Given the description of an element on the screen output the (x, y) to click on. 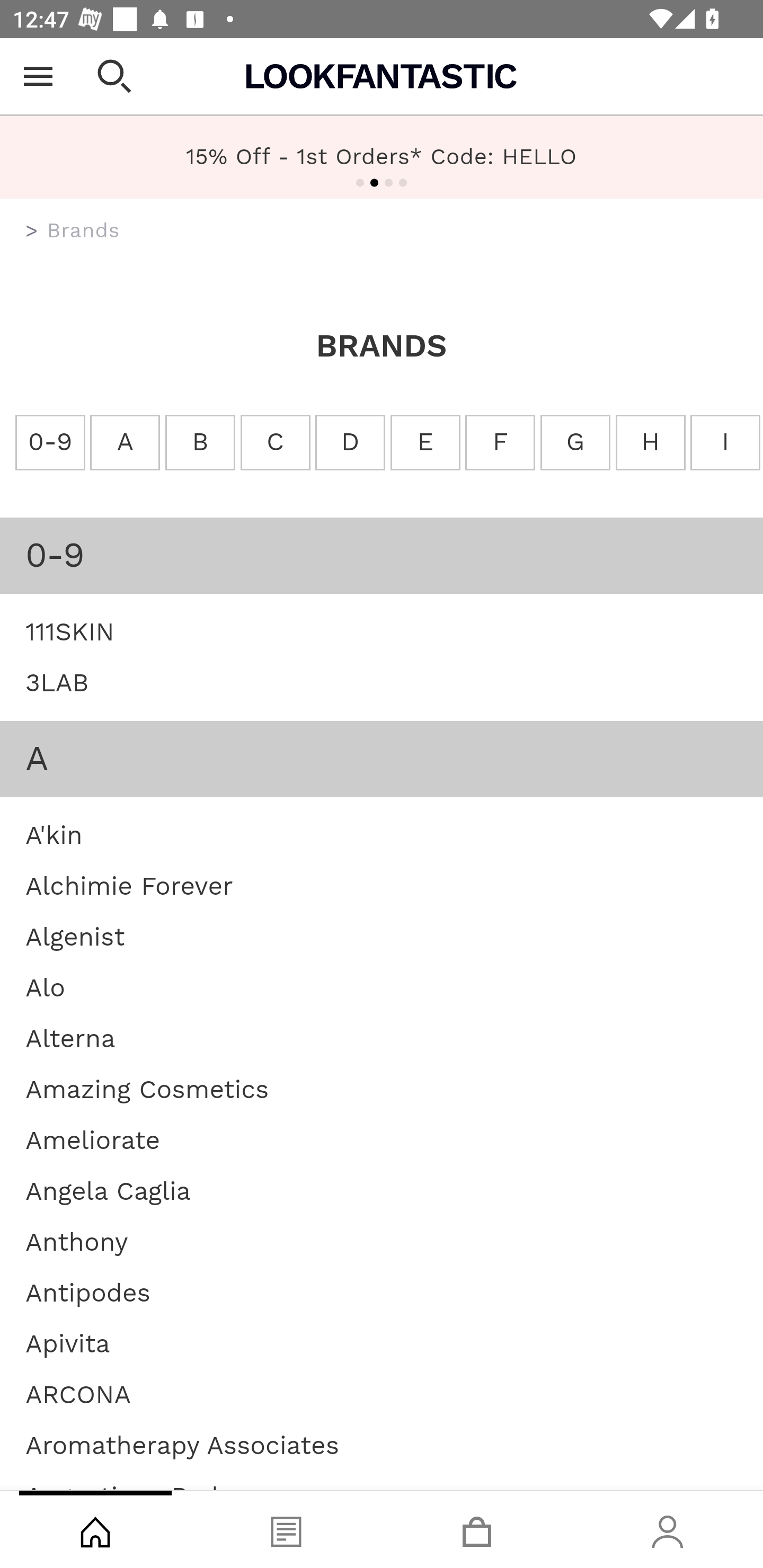
Open Menu (38, 75)
Open search (114, 75)
Lookfantastic USA (381, 75)
us.lookfantastic (32, 230)
0-9 (49, 443)
A (124, 443)
B (199, 443)
C (275, 443)
D (350, 443)
E (424, 443)
F (499, 443)
G (574, 443)
H (650, 443)
I (725, 443)
111SKIN (69, 630)
3LAB (57, 681)
A'kin (53, 833)
Alchimie Forever (129, 884)
Algenist (75, 935)
Alo (46, 986)
Alterna (70, 1037)
Amazing Cosmetics (147, 1087)
Ameliorate (92, 1139)
Angela Caglia (108, 1189)
Anthony (76, 1240)
Antipodes (88, 1291)
Apivita (68, 1342)
ARCONA (78, 1393)
Aromatherapy Associates (182, 1443)
Shop, tab, 1 of 4 (95, 1529)
Blog, tab, 2 of 4 (285, 1529)
Basket, tab, 3 of 4 (476, 1529)
Account, tab, 4 of 4 (667, 1529)
